Given the description of an element on the screen output the (x, y) to click on. 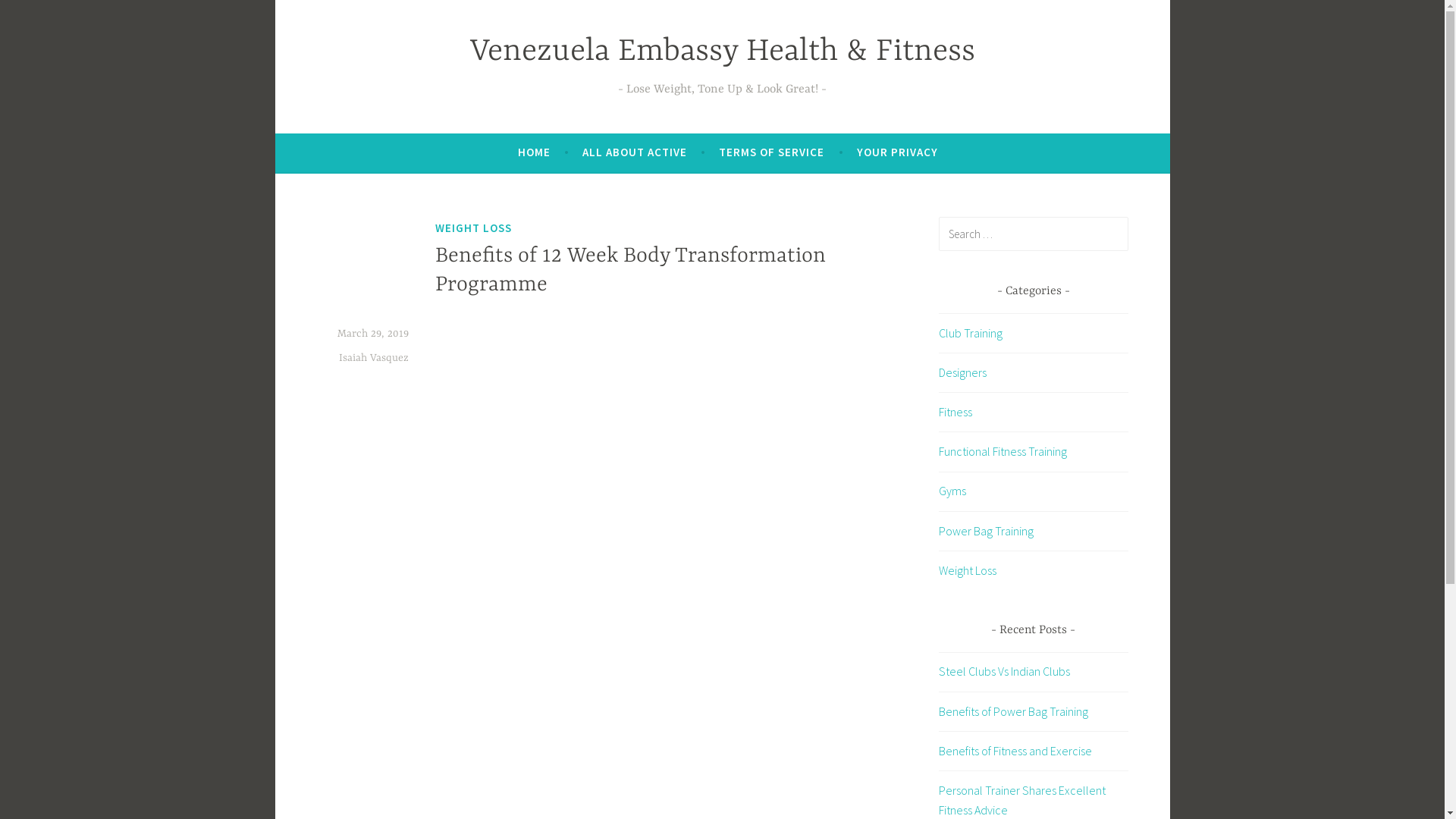
Isaiah Vasquez Element type: text (372, 357)
WEIGHT LOSS Element type: text (473, 228)
YOUR PRIVACY Element type: text (897, 152)
Venezuela Embassy Health & Fitness Element type: text (722, 51)
Fitness Element type: text (955, 411)
Functional Fitness Training Element type: text (1002, 450)
Club Training Element type: text (970, 332)
HOME Element type: text (533, 152)
March 29, 2019 Element type: text (371, 333)
Weight Loss Element type: text (967, 569)
Designers Element type: text (962, 371)
Steel Clubs Vs Indian Clubs Element type: text (1004, 670)
TERMS OF SERVICE Element type: text (771, 152)
Search Element type: text (33, 15)
Benefits of Fitness and Exercise Element type: text (1015, 750)
Benefits of Power Bag Training Element type: text (1013, 710)
ALL ABOUT ACTIVE Element type: text (634, 152)
Personal Trainer Shares Excellent Fitness Advice Element type: text (1021, 799)
Power Bag Training Element type: text (985, 530)
Gyms Element type: text (952, 490)
